Given the description of an element on the screen output the (x, y) to click on. 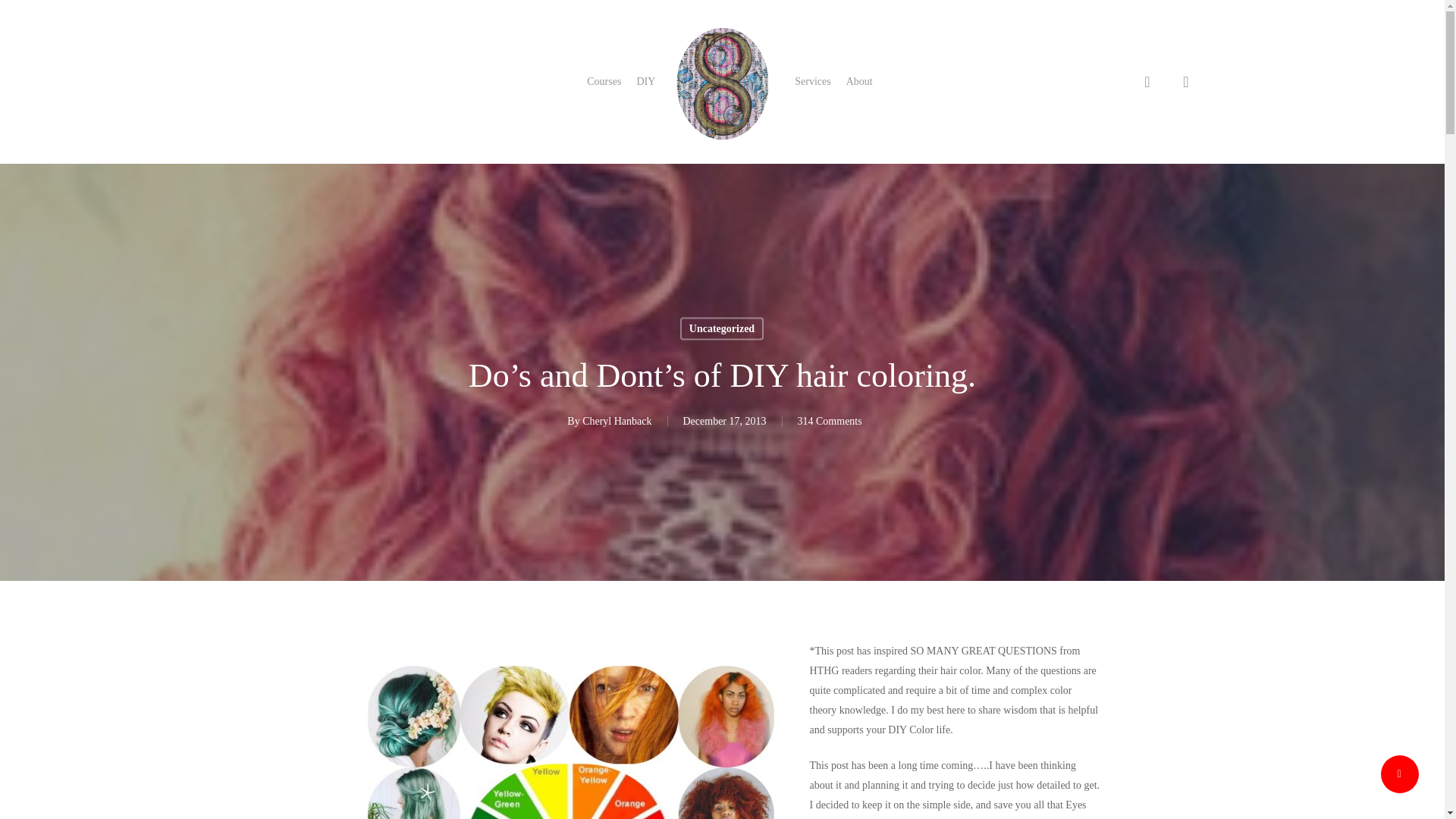
Services (811, 81)
314 Comments (829, 420)
Courses (603, 81)
search (1147, 82)
About (858, 81)
Uncategorized (720, 327)
DIY (645, 81)
Cheryl Hanback (616, 420)
Posts by Cheryl Hanback (616, 420)
